Given the description of an element on the screen output the (x, y) to click on. 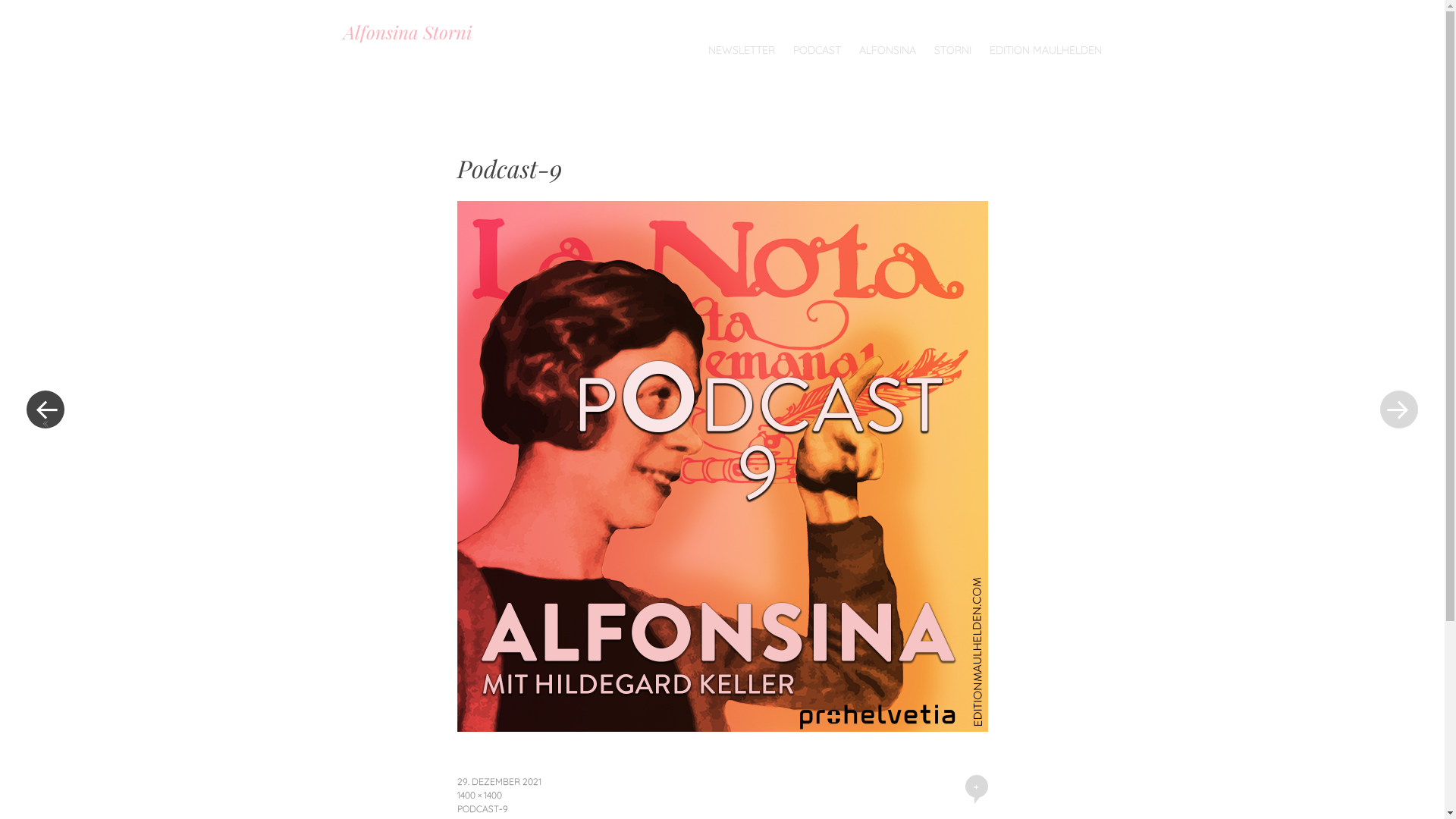
EDITION MAULHELDEN Element type: text (1044, 50)
Alfonsina Storni Element type: text (406, 31)
Podcast-9 Element type: hover (721, 726)
PODCAST Element type: text (816, 50)
STORNI Element type: text (952, 50)
NEWSLETTER Element type: text (741, 50)
PODCAST-9 Element type: text (481, 808)
ALFONSINA Element type: text (886, 50)
SKIP TO CONTENT Element type: text (342, 65)
+ Element type: text (975, 786)
